Given the description of an element on the screen output the (x, y) to click on. 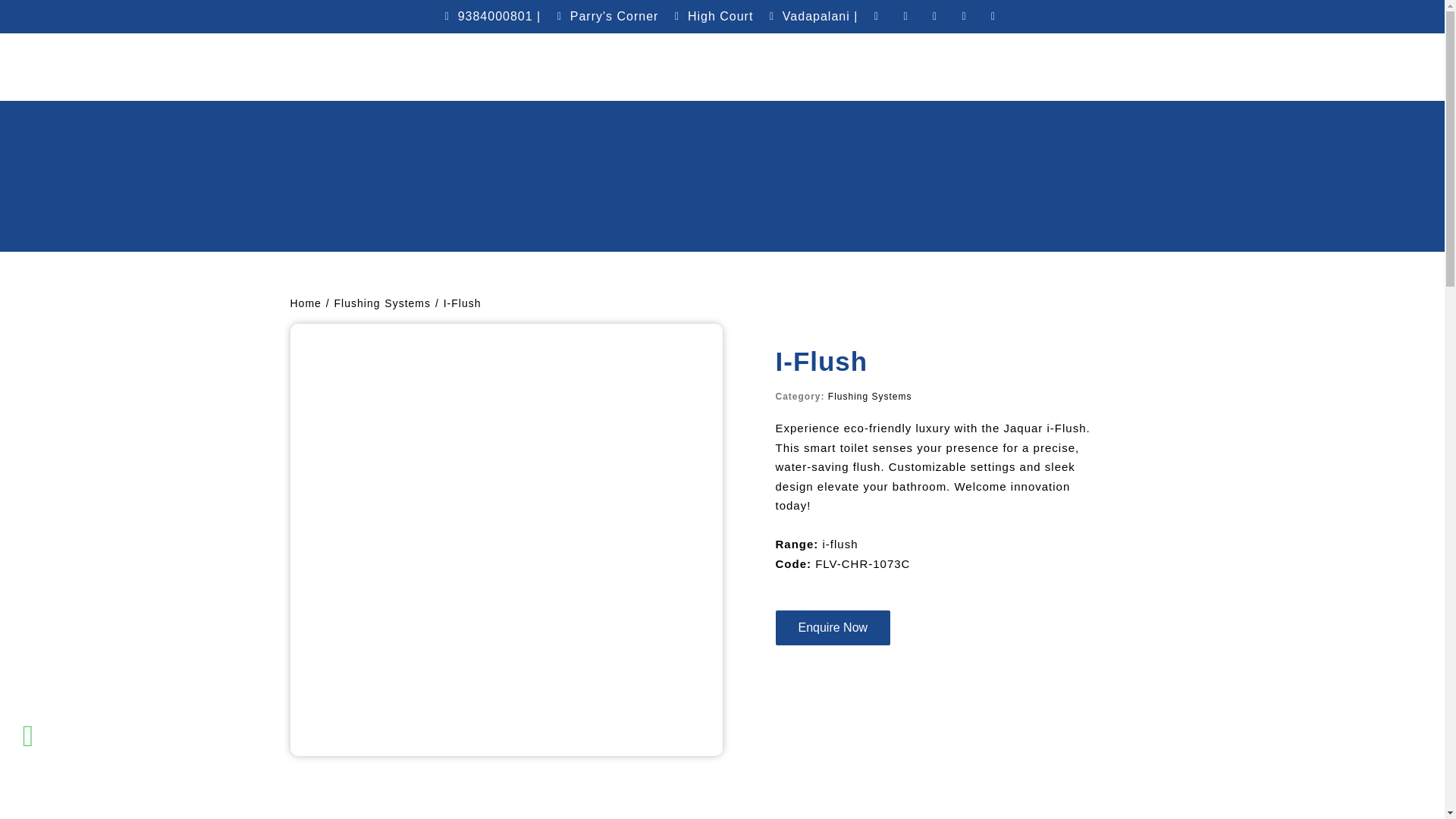
Parry's Corner (605, 16)
High Court (710, 16)
